Given the description of an element on the screen output the (x, y) to click on. 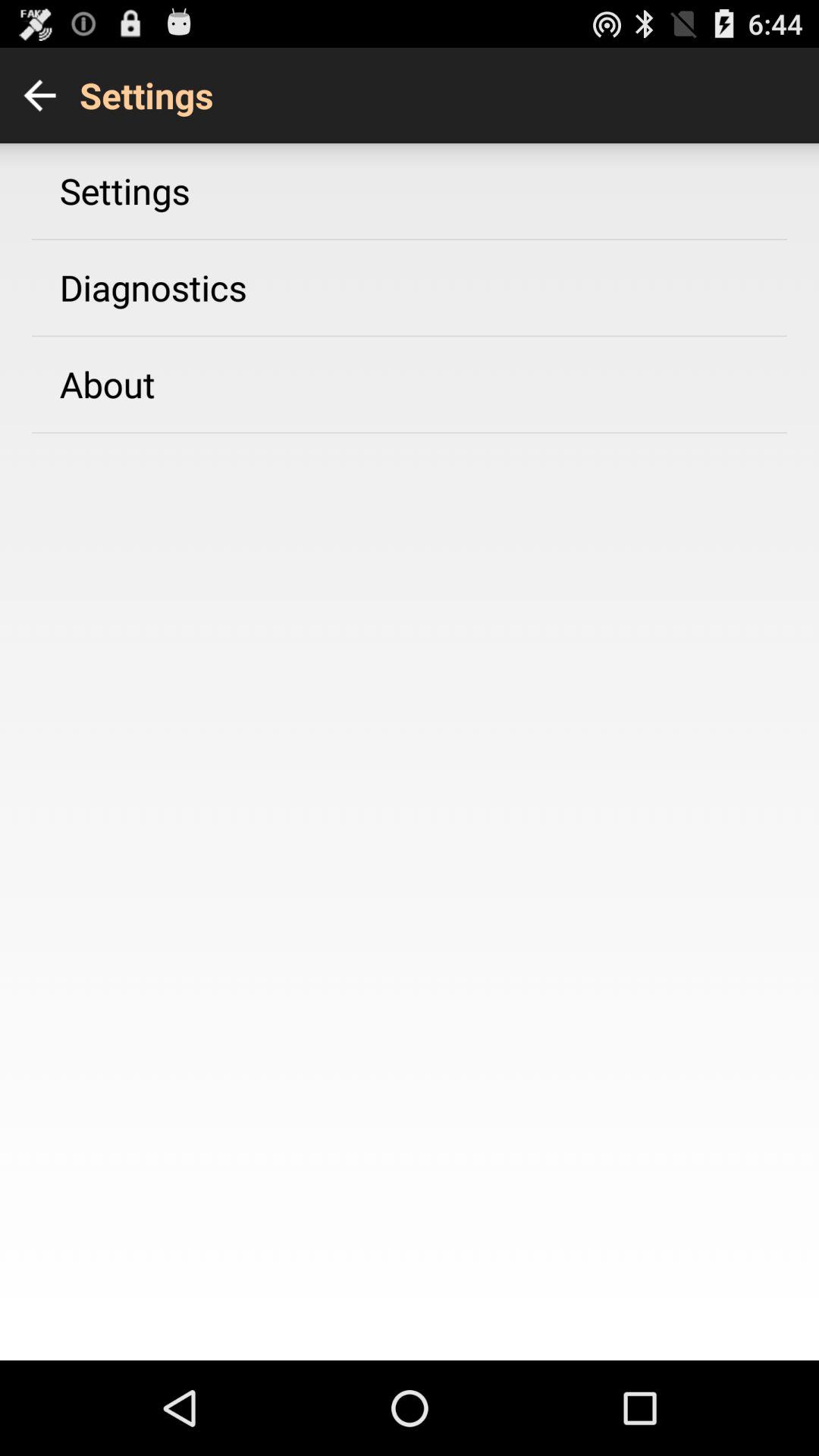
select diagnostics app (152, 287)
